Given the description of an element on the screen output the (x, y) to click on. 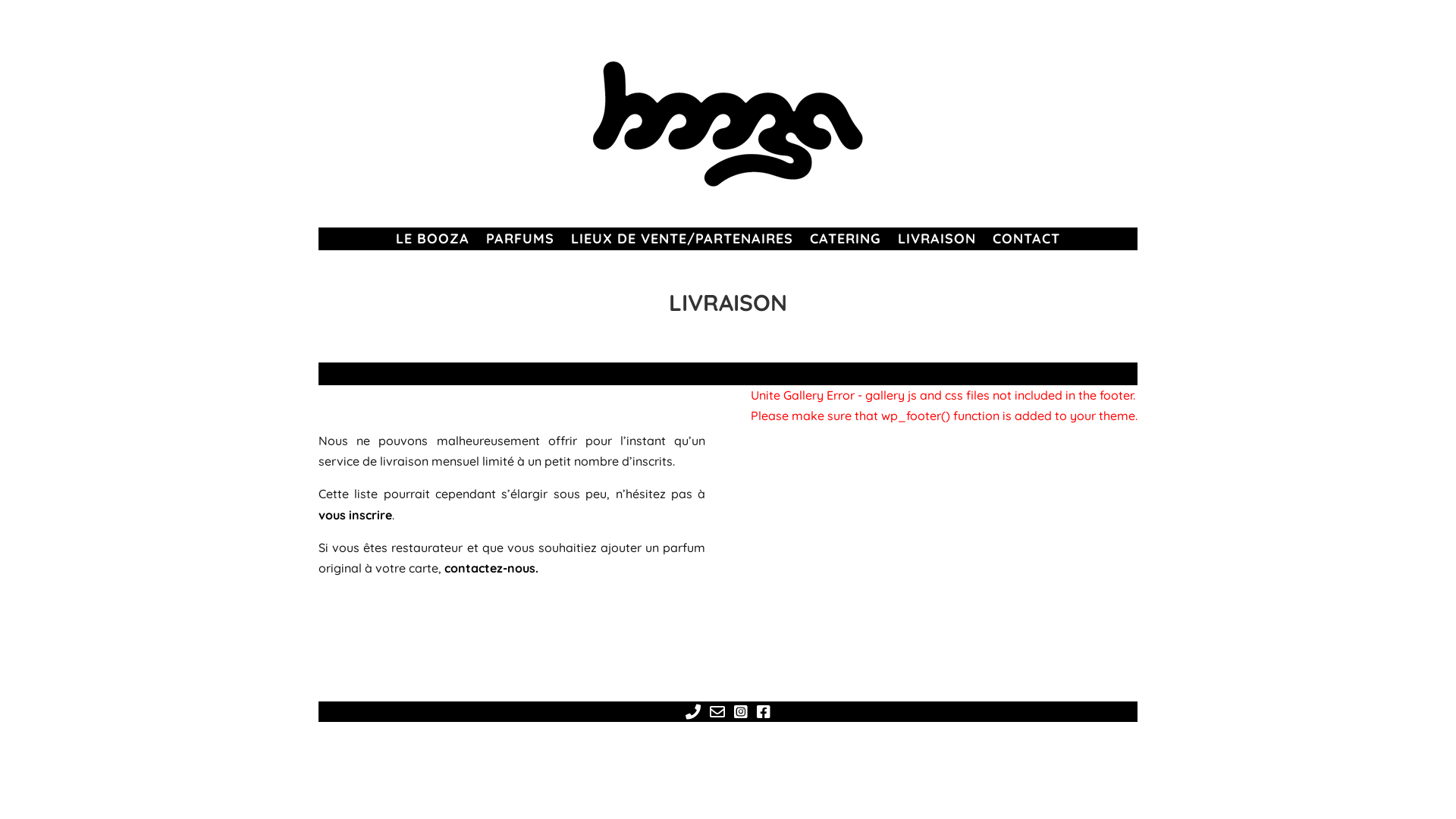
LE BOOZA Element type: text (432, 241)
LIVRAISON Element type: text (936, 241)
contactez-nous. Element type: text (491, 567)
vous inscrire Element type: text (355, 514)
Logo-Booza-70pct Element type: hover (727, 123)
LIEUX DE VENTE/PARTENAIRES Element type: text (682, 241)
CATERING Element type: text (845, 241)
CONTACT Element type: text (1026, 241)
PARFUMS Element type: text (520, 241)
